Given the description of an element on the screen output the (x, y) to click on. 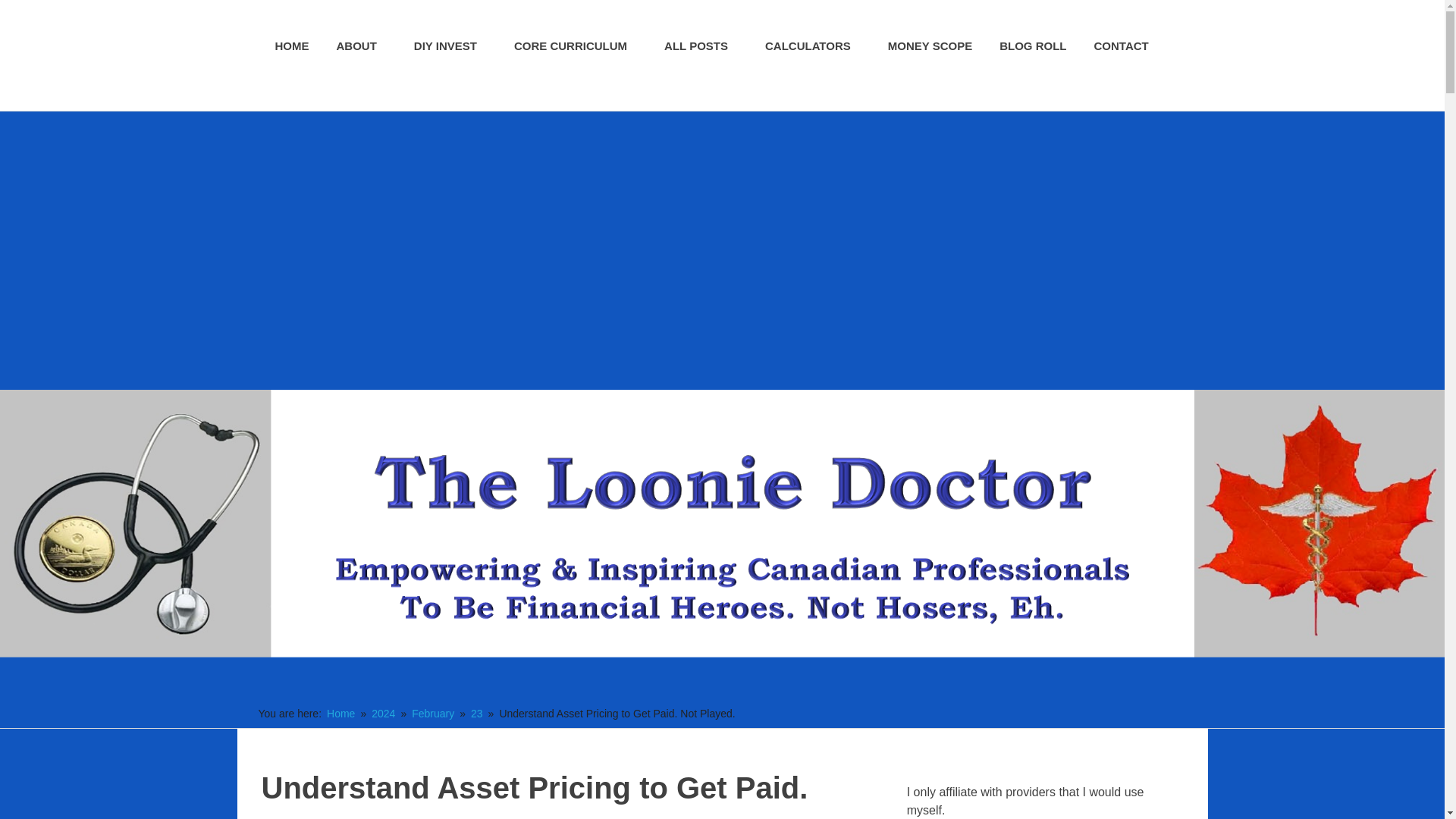
ALL POSTS (700, 46)
CALCULATORS (813, 46)
DIY INVEST (450, 46)
ABOUT (361, 46)
CORE CURRICULUM (575, 46)
HOME (290, 46)
